Given the description of an element on the screen output the (x, y) to click on. 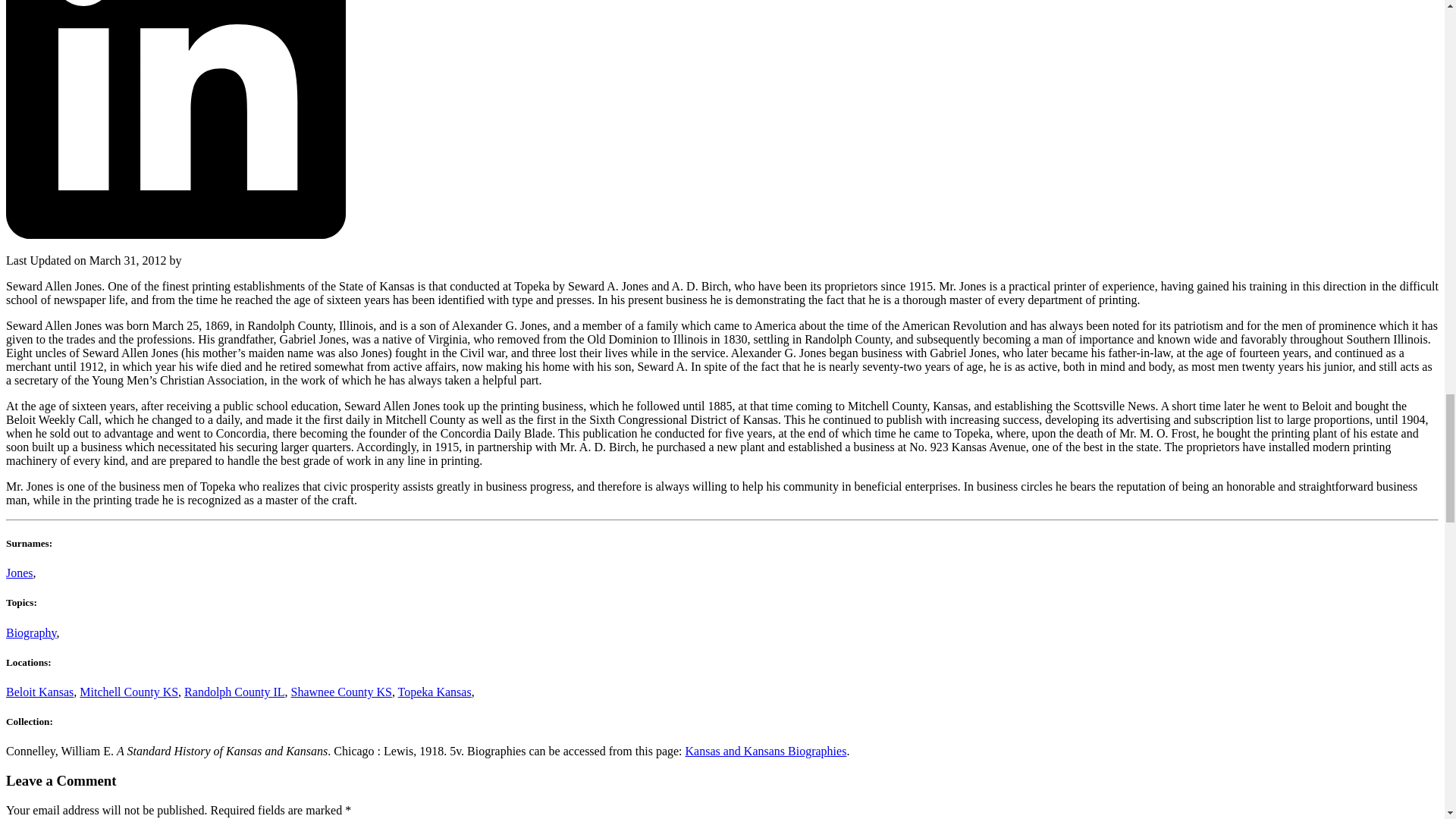
Kansas and Kansans Biographies (766, 750)
Biography (30, 632)
Jones (19, 572)
Beloit Kansas (39, 691)
Shawnee County KS (341, 691)
Mitchell County KS (128, 691)
Topeka Kansas (434, 691)
Randolph County IL (233, 691)
Kansas and Kansans Biographies (766, 750)
